Given the description of an element on the screen output the (x, y) to click on. 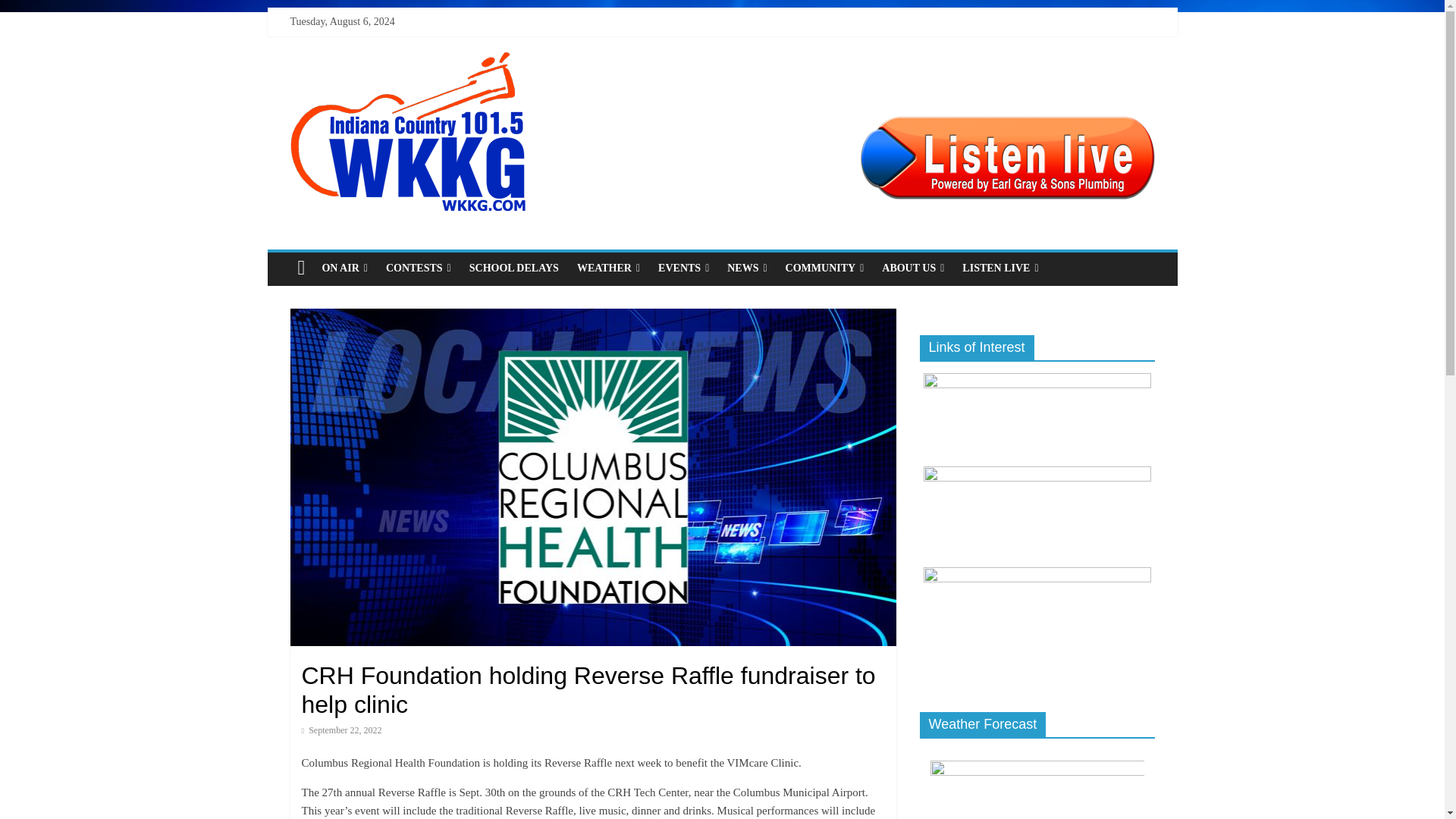
NEWS (746, 268)
ABOUT US (912, 268)
EVENTS (683, 268)
COMMUNITY (824, 268)
7:40 am (341, 729)
ON AIR (345, 268)
CONTESTS (418, 268)
WEATHER (608, 268)
SCHOOL DELAYS (513, 268)
